Given the description of an element on the screen output the (x, y) to click on. 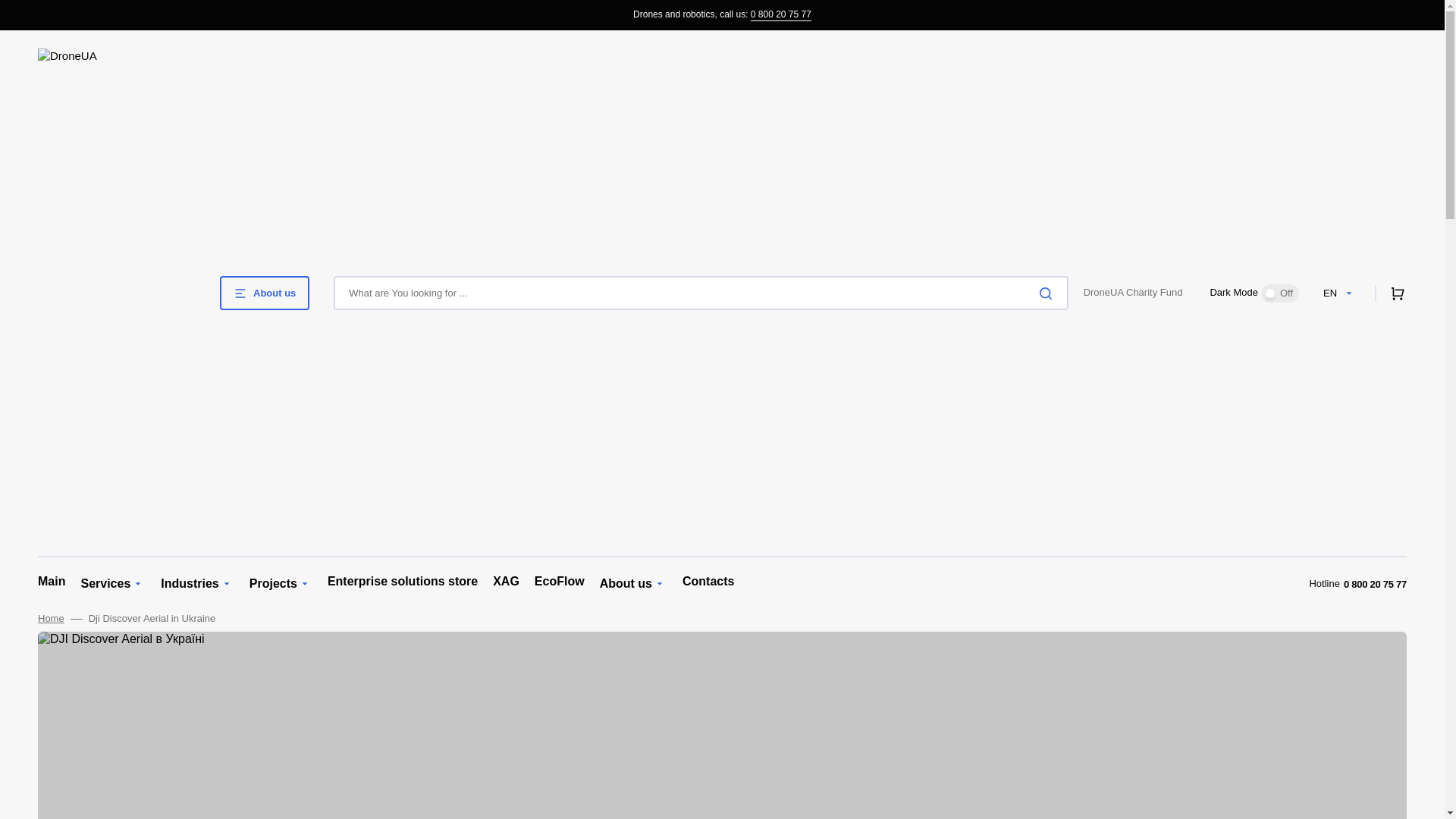
EcoFlow (559, 581)
Industries (189, 584)
Contacts (707, 581)
About us (625, 584)
0 800 20 75 77 (780, 14)
XAG (506, 581)
Main (51, 581)
Services (105, 584)
Projects (272, 584)
tel:0800207577 (780, 14)
